Given the description of an element on the screen output the (x, y) to click on. 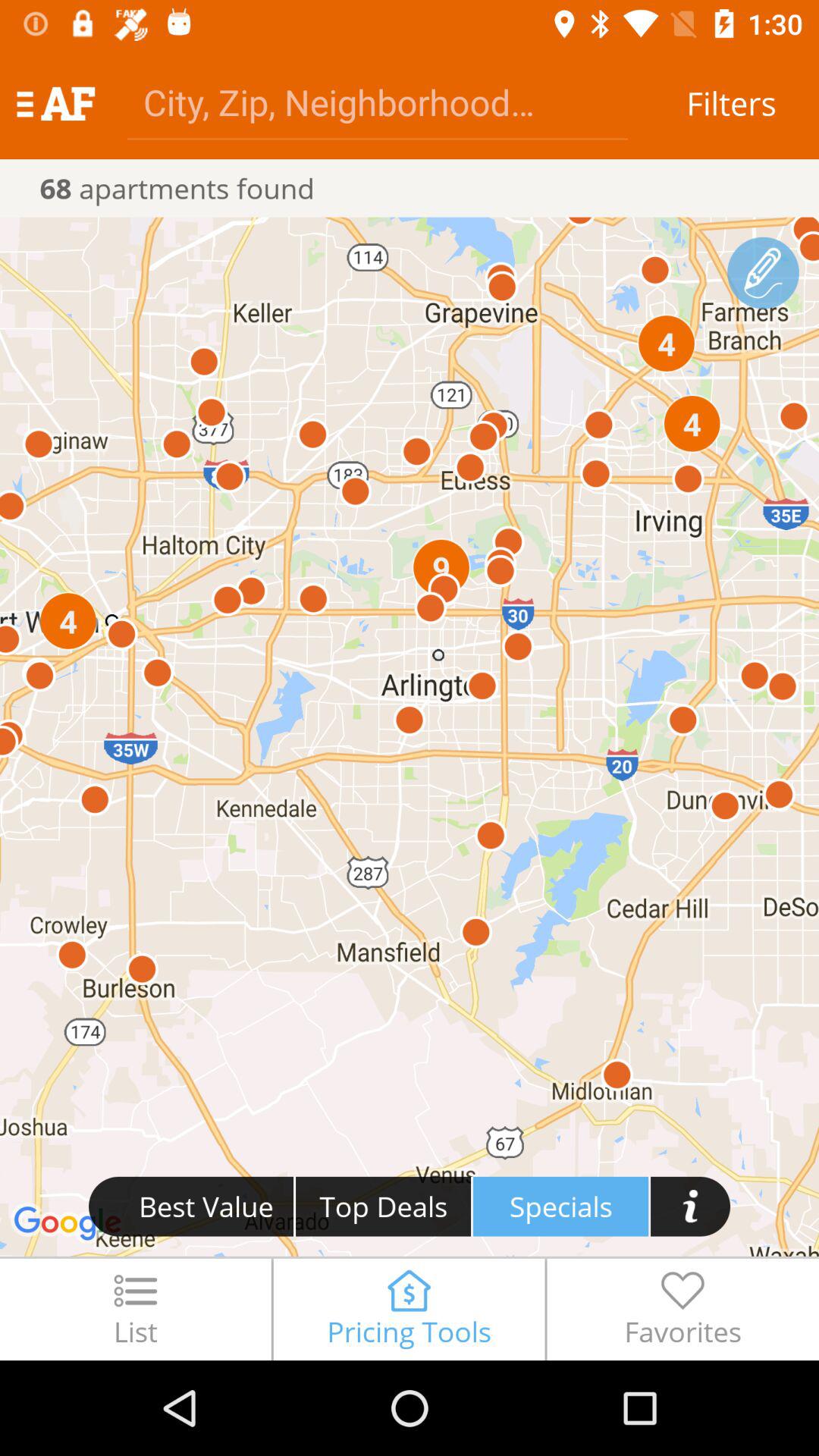
turn off the favorites (683, 1309)
